Given the description of an element on the screen output the (x, y) to click on. 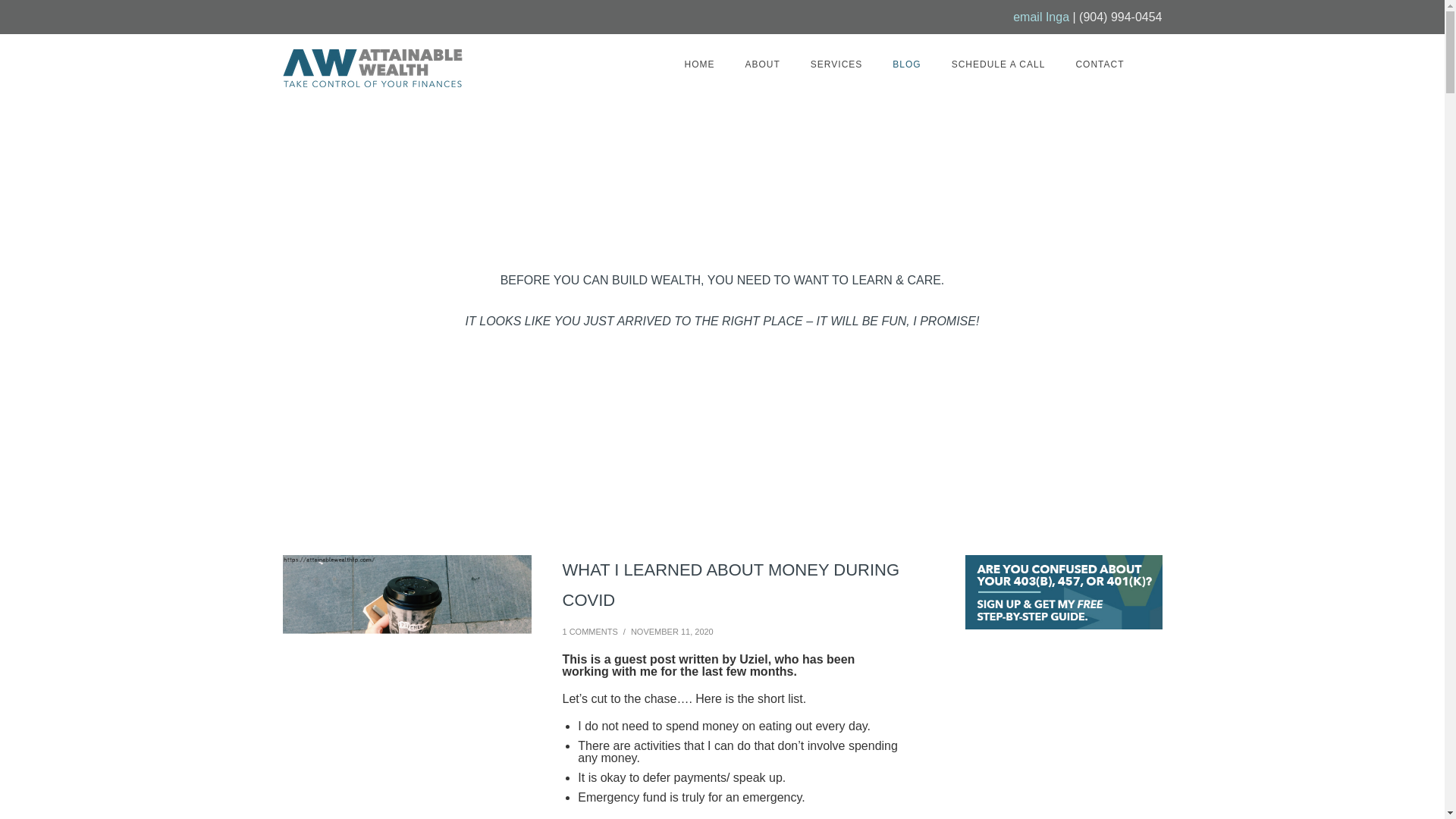
1 COMMENTS (589, 631)
Services (835, 63)
BLOG (906, 63)
Contact (1098, 63)
ABOUT (761, 63)
SCHEDULE A CALL (998, 63)
Home (698, 63)
HOME (698, 63)
Schedule a call (998, 63)
CONTACT (1098, 63)
